Given the description of an element on the screen output the (x, y) to click on. 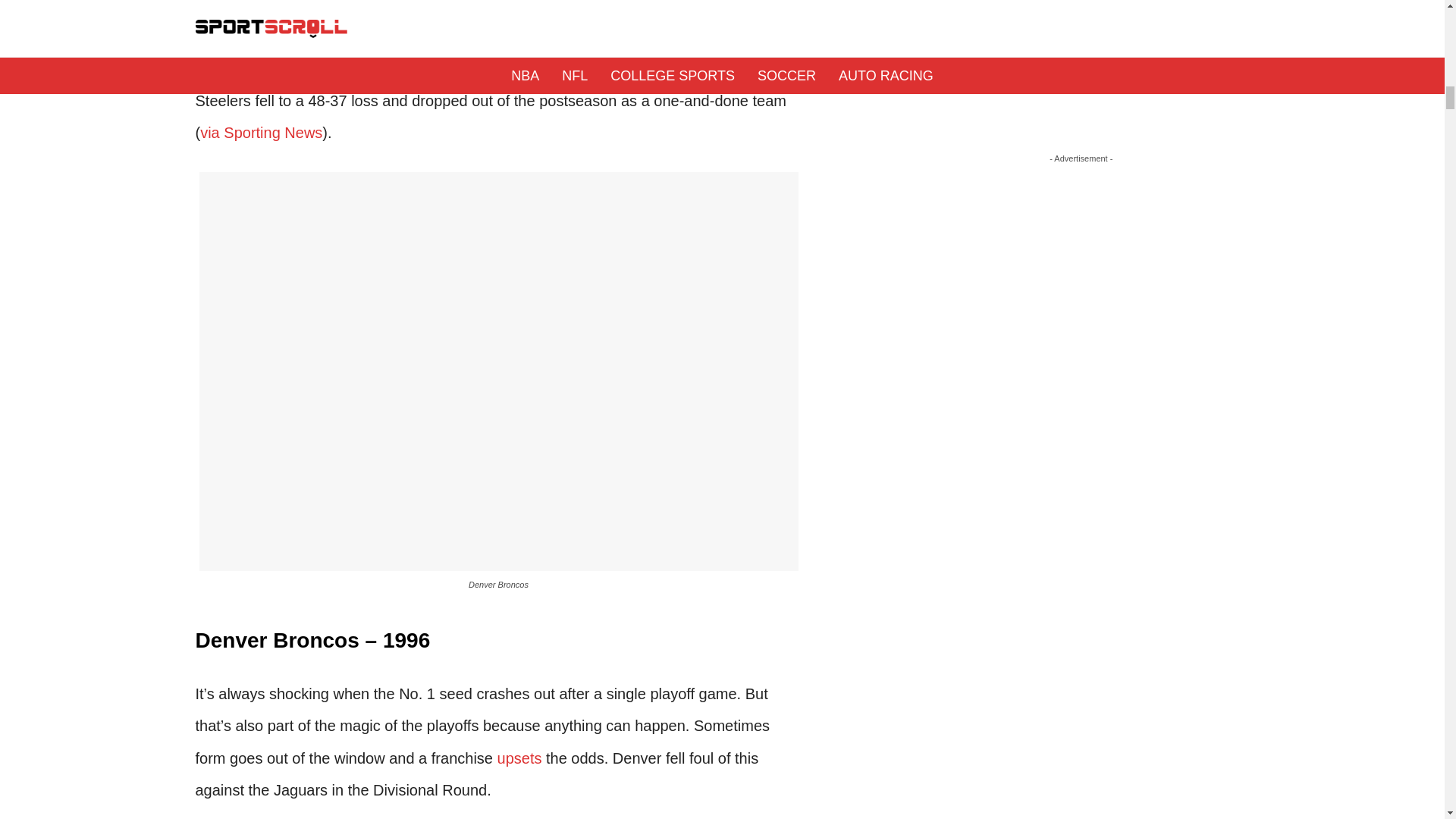
upsets (519, 758)
career (448, 68)
via Sporting News (260, 132)
